Given the description of an element on the screen output the (x, y) to click on. 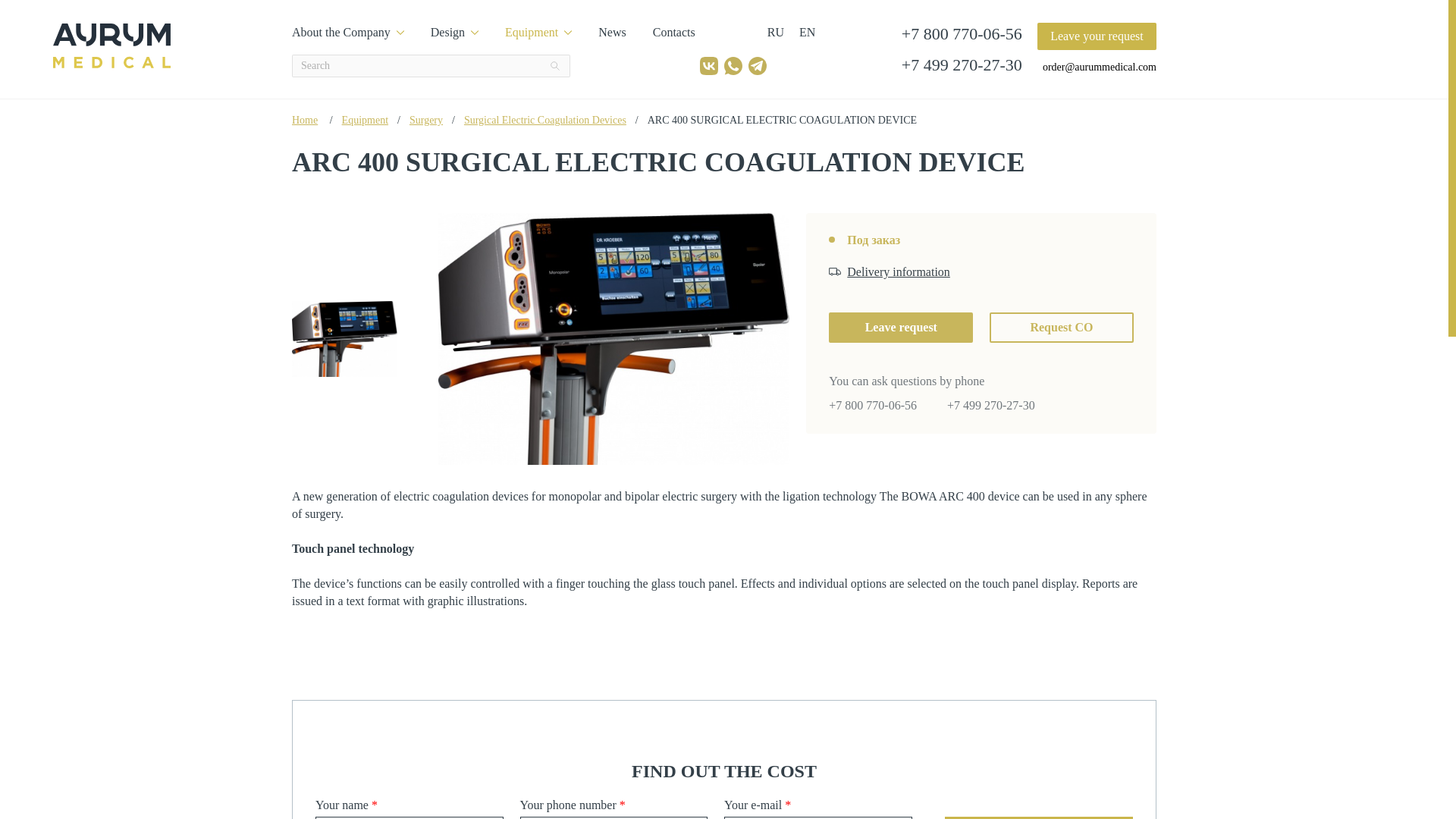
News (612, 31)
Surgery. (425, 120)
Home. (304, 120)
Send (1038, 817)
Surgical Electric Coagulation Devices. (545, 120)
Contacts (673, 31)
Design (454, 31)
Equipment (538, 31)
Equipment. (365, 120)
EN (807, 31)
About the Company (348, 31)
RU (775, 31)
